Given the description of an element on the screen output the (x, y) to click on. 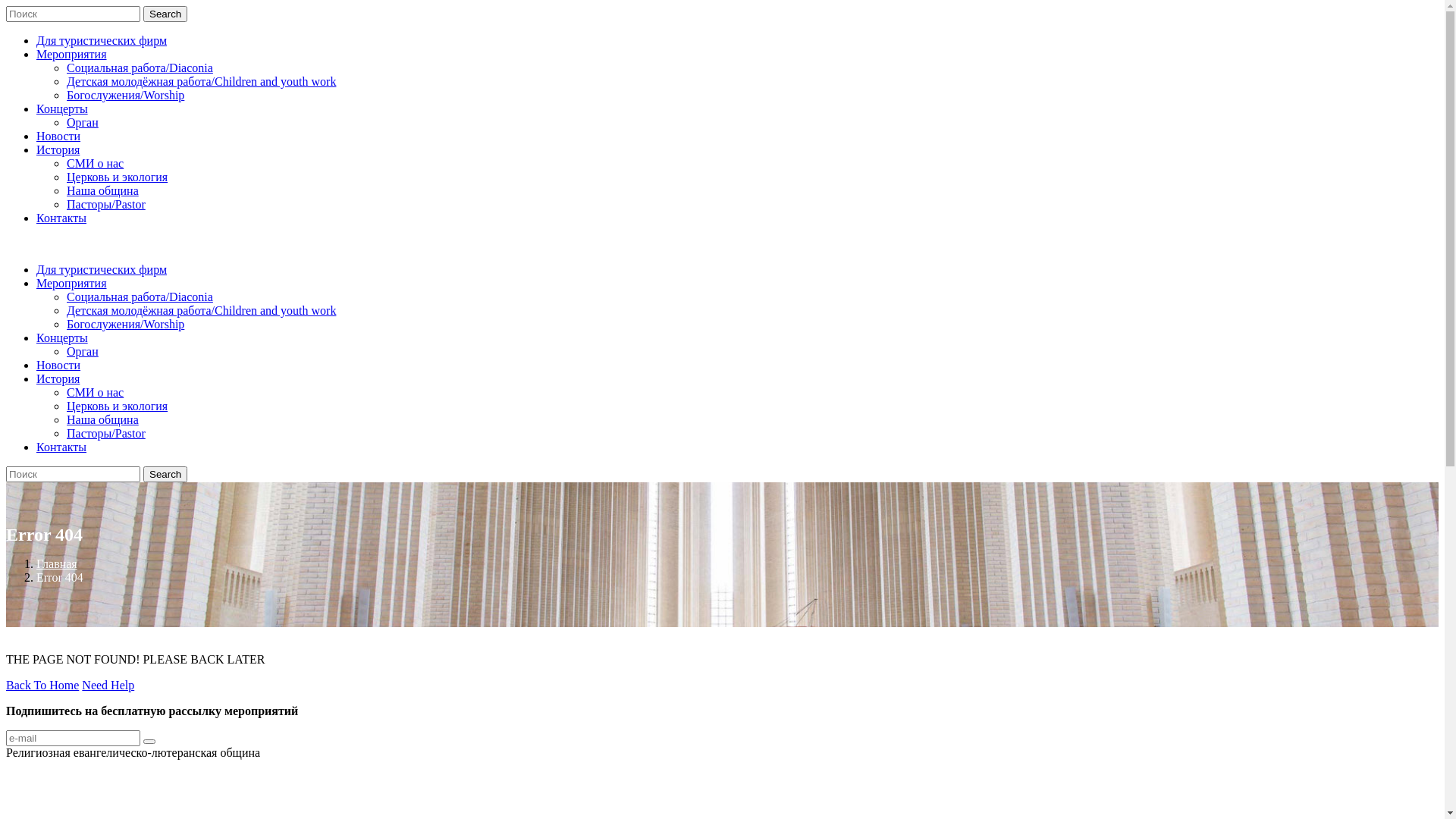
Search Element type: text (165, 474)
Search Element type: text (165, 13)
Back To Home Element type: text (42, 684)
Need Help Element type: text (107, 684)
Error 404 Element type: text (59, 577)
